Given the description of an element on the screen output the (x, y) to click on. 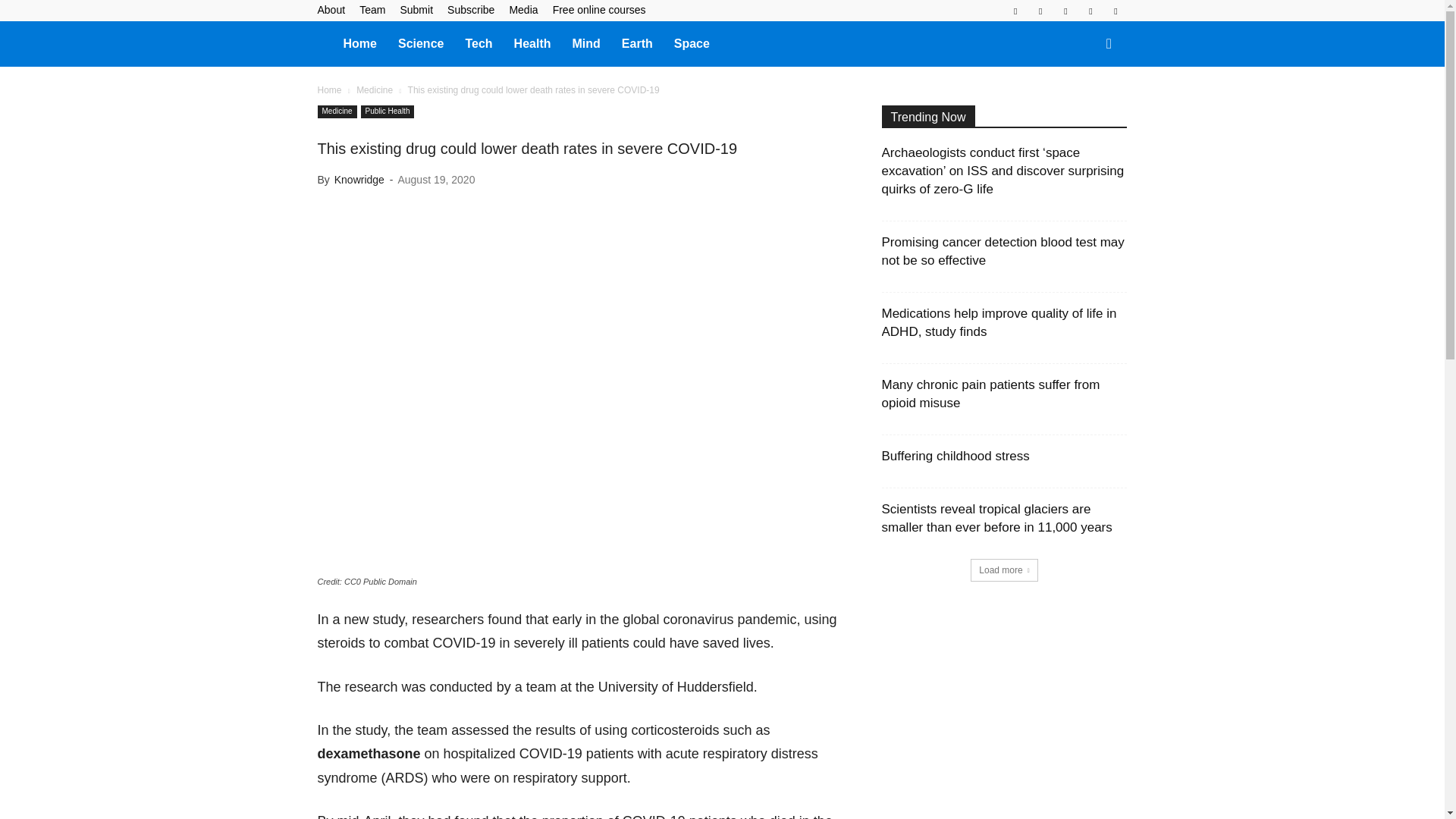
About (331, 9)
Twitter (1090, 10)
Team (372, 9)
Media (522, 9)
RSS (1065, 10)
Facebook (1015, 10)
Subscribe (470, 9)
Linkedin (1040, 10)
View all posts in Medicine (374, 90)
